Given the description of an element on the screen output the (x, y) to click on. 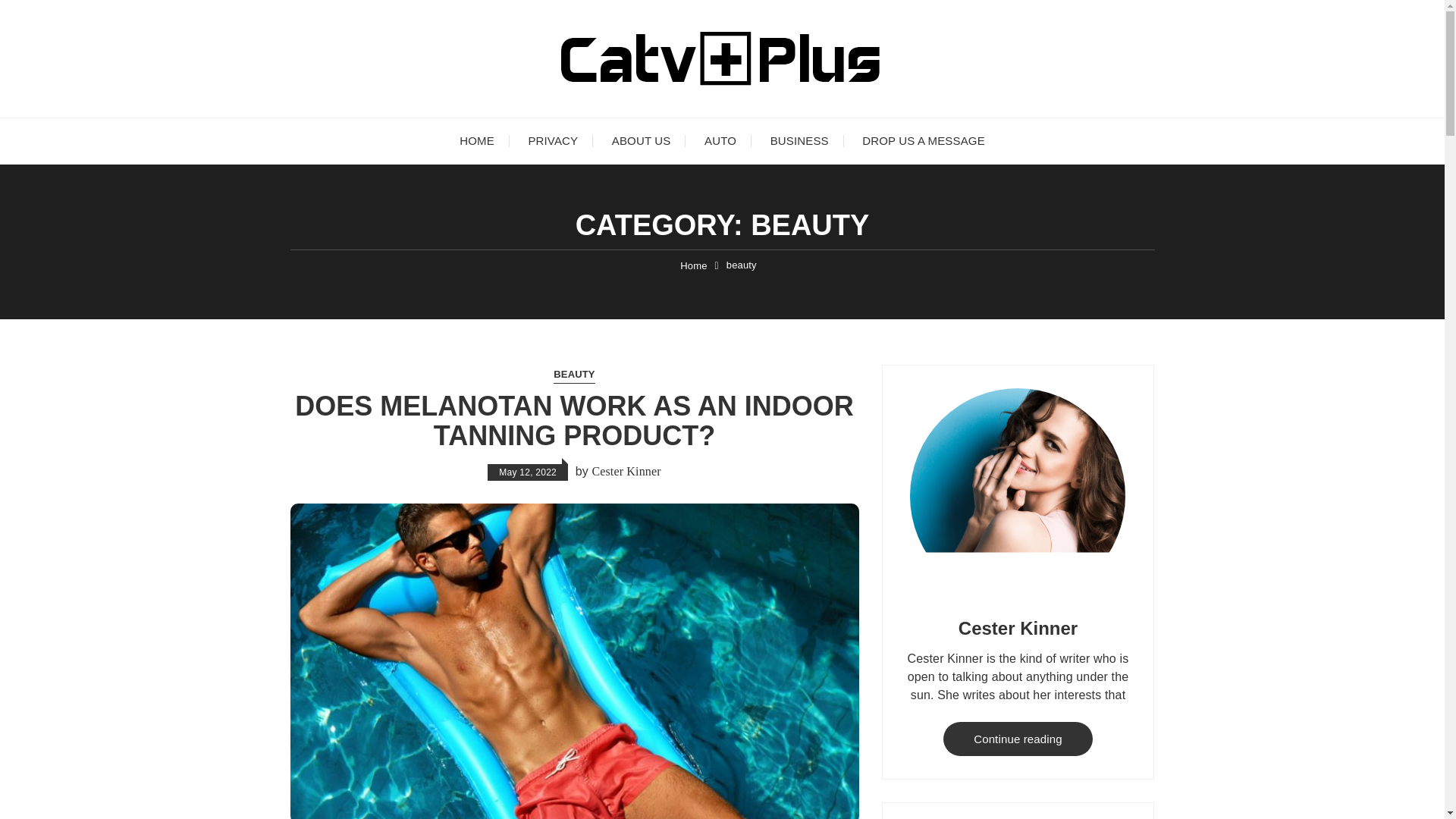
ABOUT US (640, 140)
BUSINESS (799, 140)
May 12, 2022 (527, 472)
HOME (476, 140)
BEAUTY (573, 375)
DOES MELANOTAN WORK AS AN INDOOR TANNING PRODUCT? (574, 421)
Home (692, 265)
DROP US A MESSAGE (923, 140)
AUTO (719, 140)
Cester Kinner (626, 471)
